Given the description of an element on the screen output the (x, y) to click on. 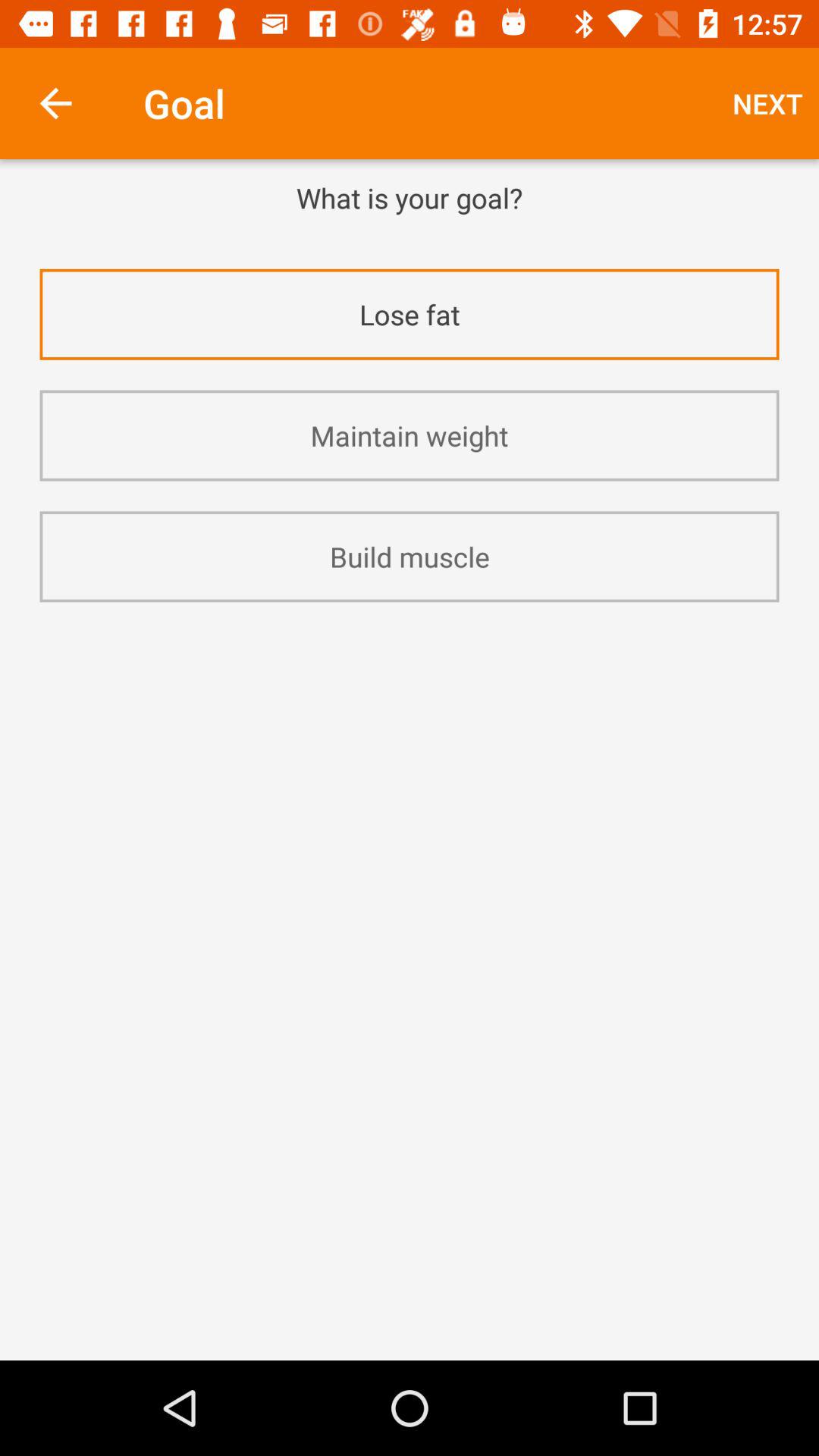
press the build muscle (409, 556)
